Given the description of an element on the screen output the (x, y) to click on. 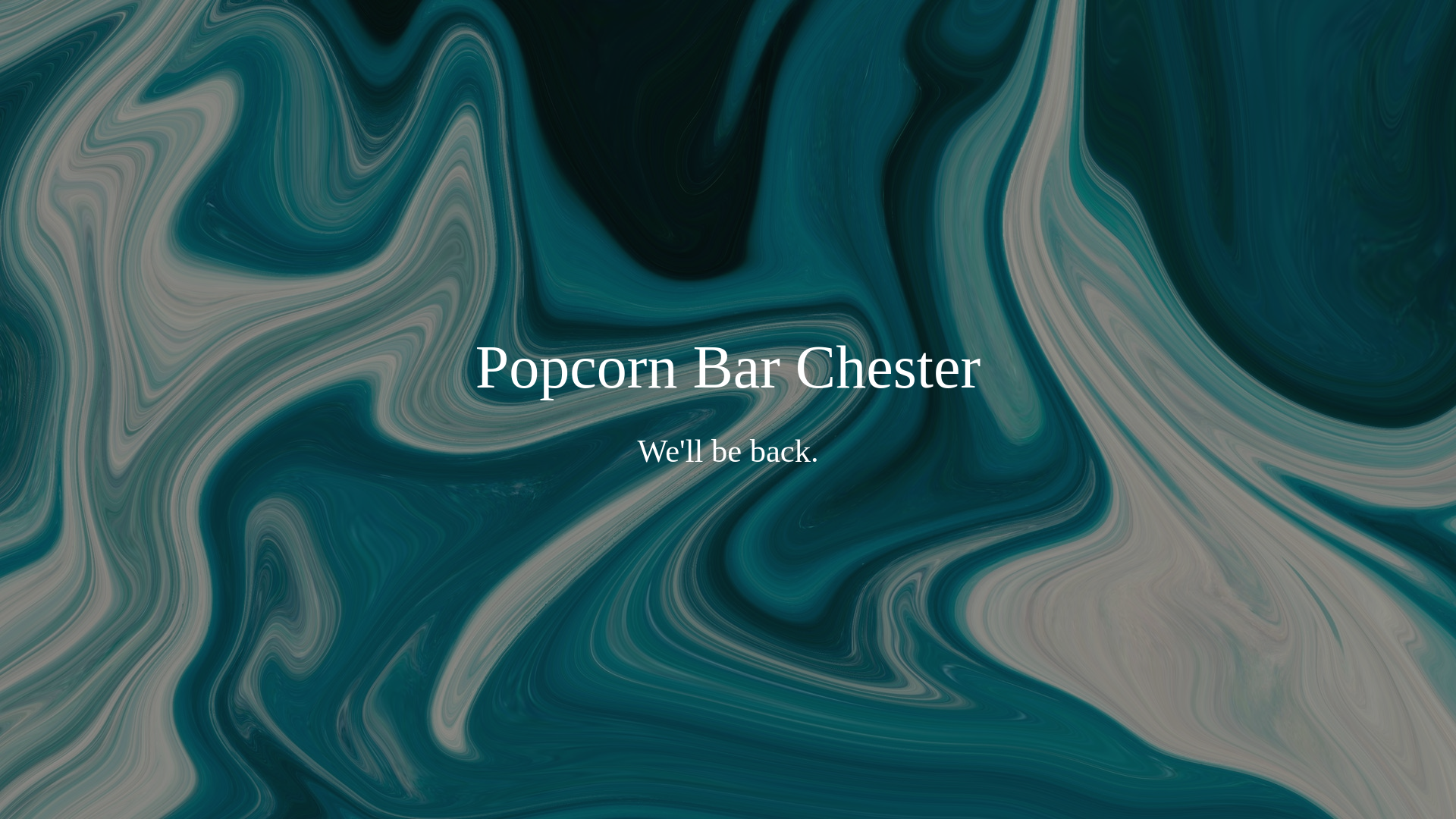
Popcorn Bar Chester (727, 376)
